Given the description of an element on the screen output the (x, y) to click on. 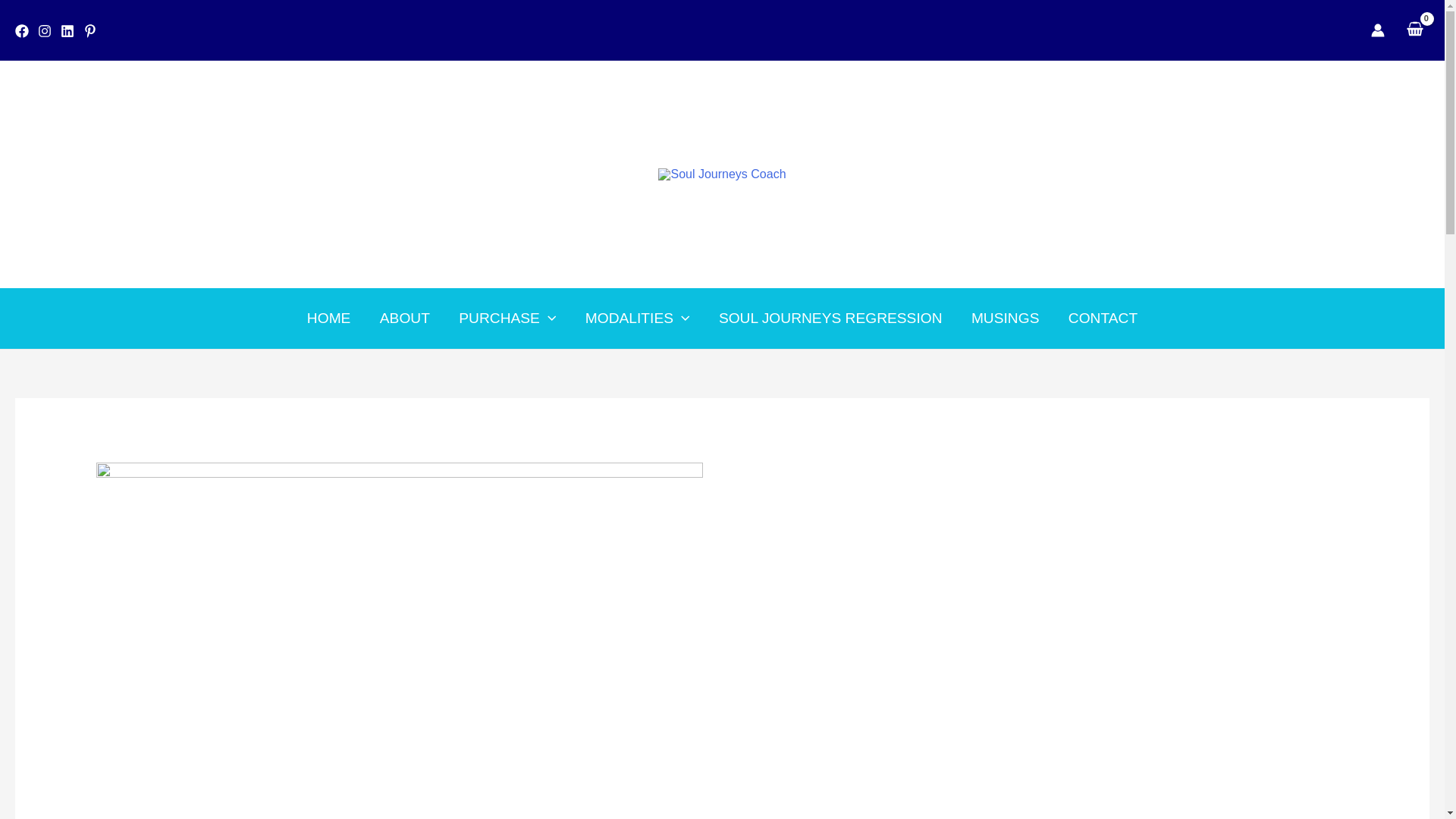
MODALITIES (637, 318)
ABOUT (404, 318)
HOME (328, 318)
PURCHASE (507, 318)
